Given the description of an element on the screen output the (x, y) to click on. 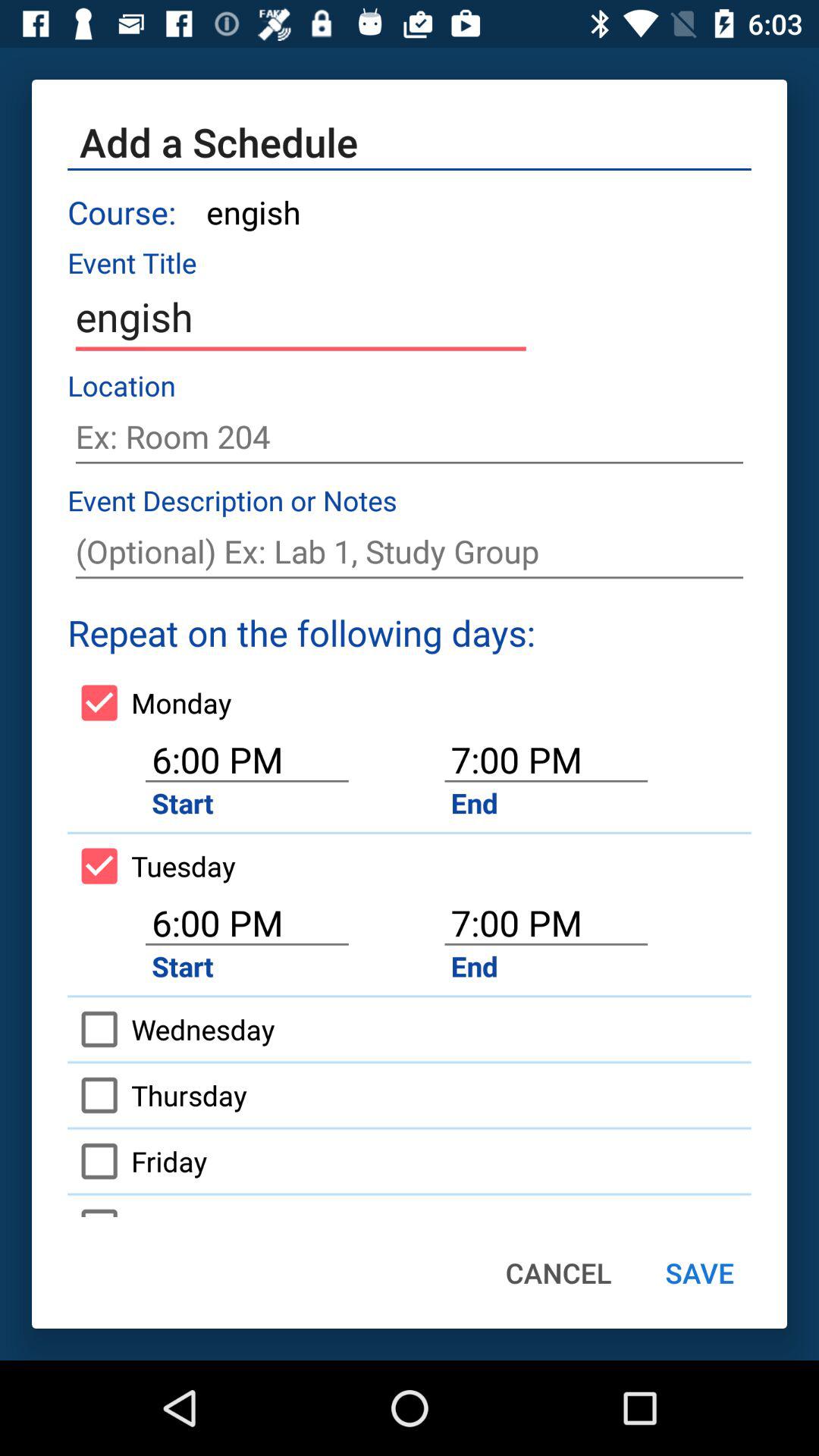
turn on item to the left of the 7:00 pm (151, 866)
